Given the description of an element on the screen output the (x, y) to click on. 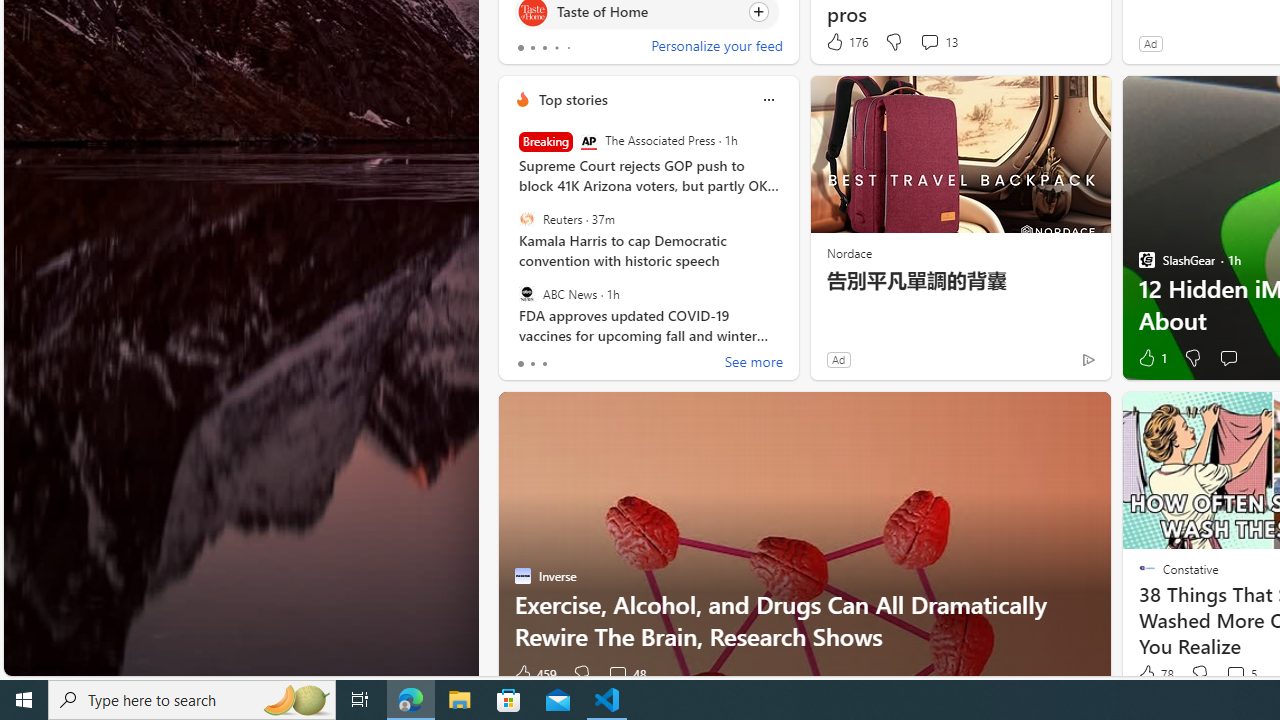
The Associated Press (587, 142)
Class: icon-img (768, 100)
459 Like (534, 674)
